Given the description of an element on the screen output the (x, y) to click on. 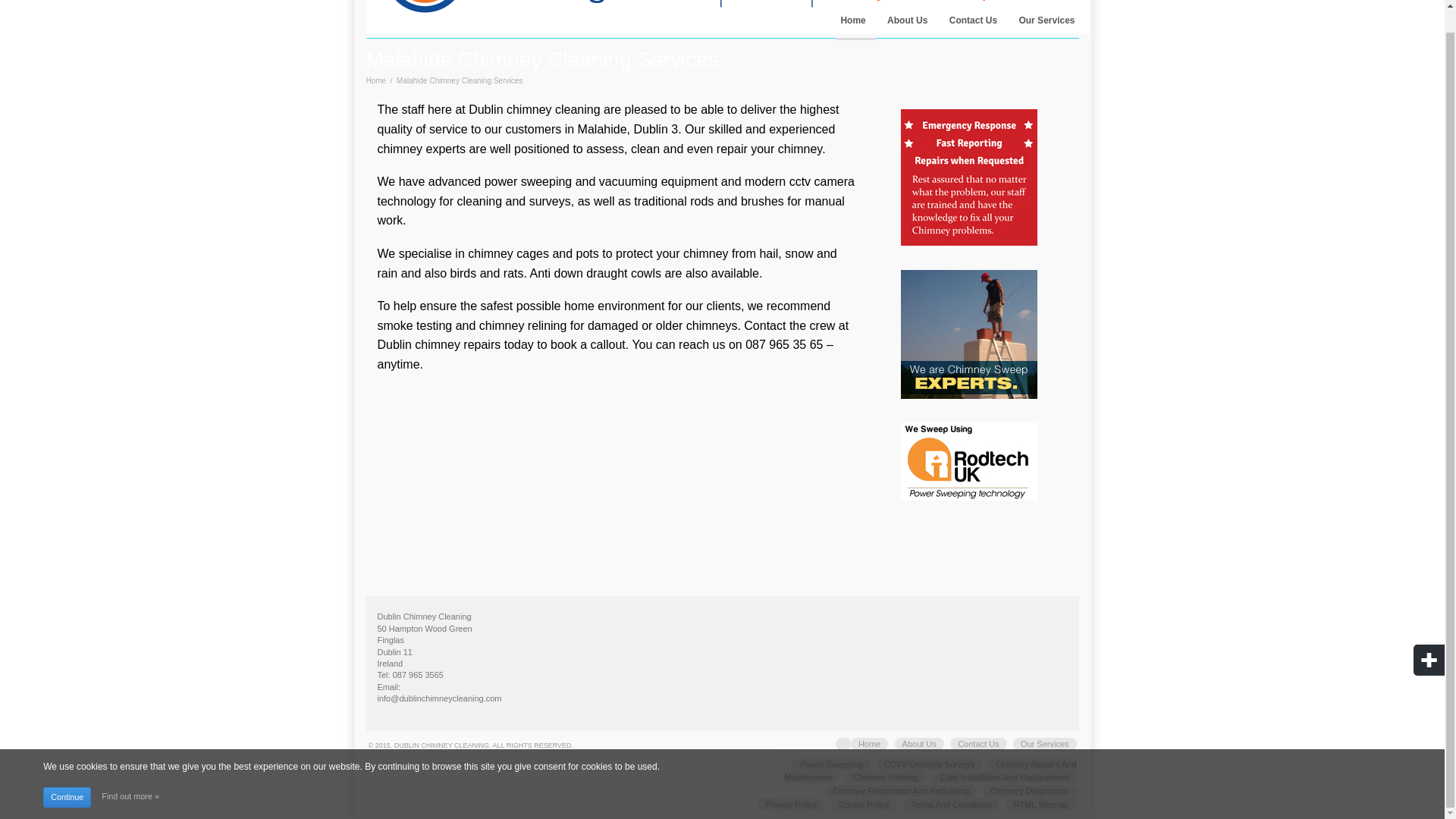
Contact Us (972, 24)
Home (375, 80)
Contact Us (978, 743)
Our skilled and experienced chimney experts (606, 138)
Our Services (1046, 24)
Home (869, 743)
Our Services (1045, 743)
We have advanced power sweeping and vacuuming equipment (547, 181)
Chimney Relining (885, 776)
About Us (919, 743)
